Given the description of an element on the screen output the (x, y) to click on. 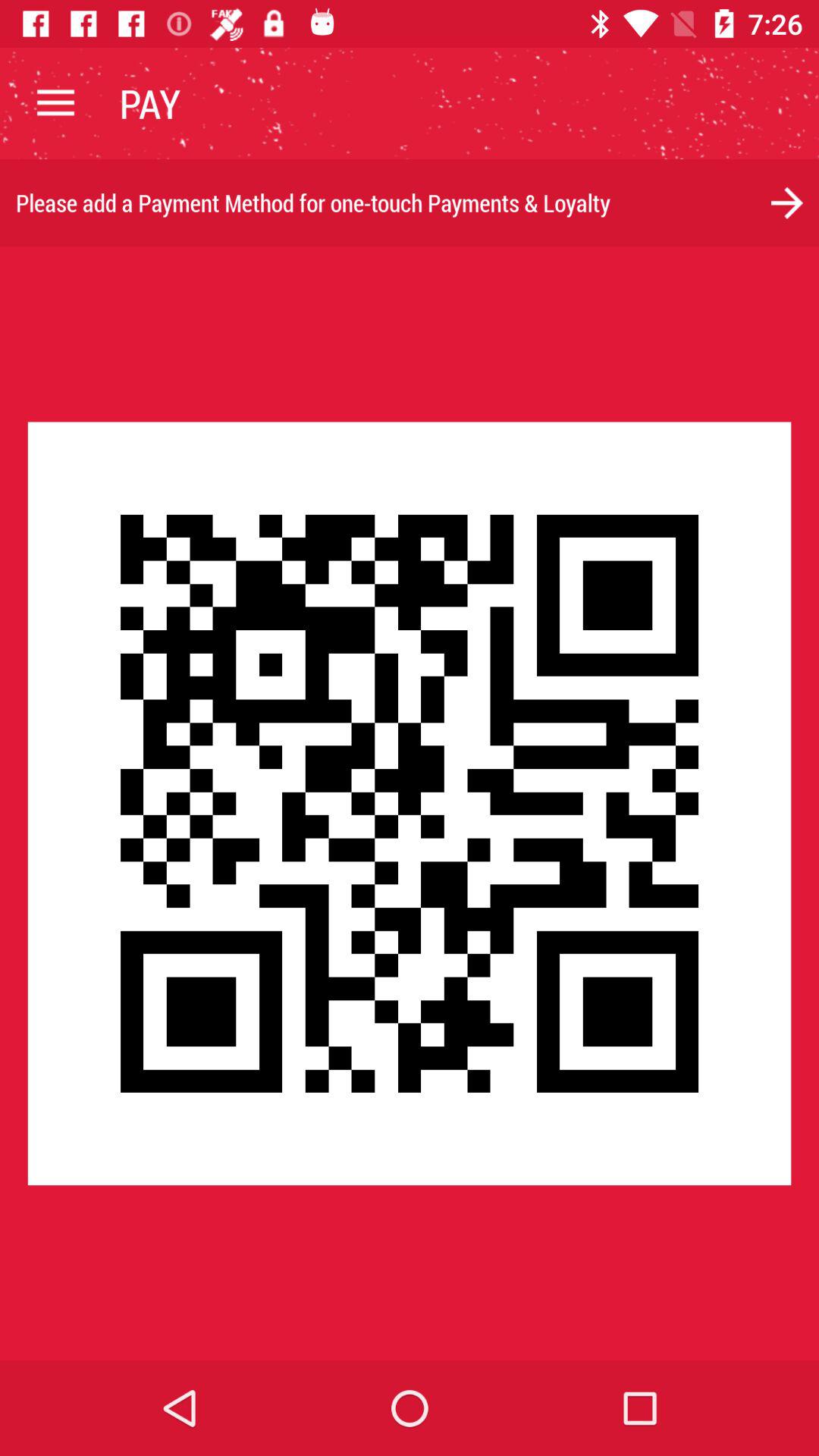
turn off icon at the center (409, 803)
